Given the description of an element on the screen output the (x, y) to click on. 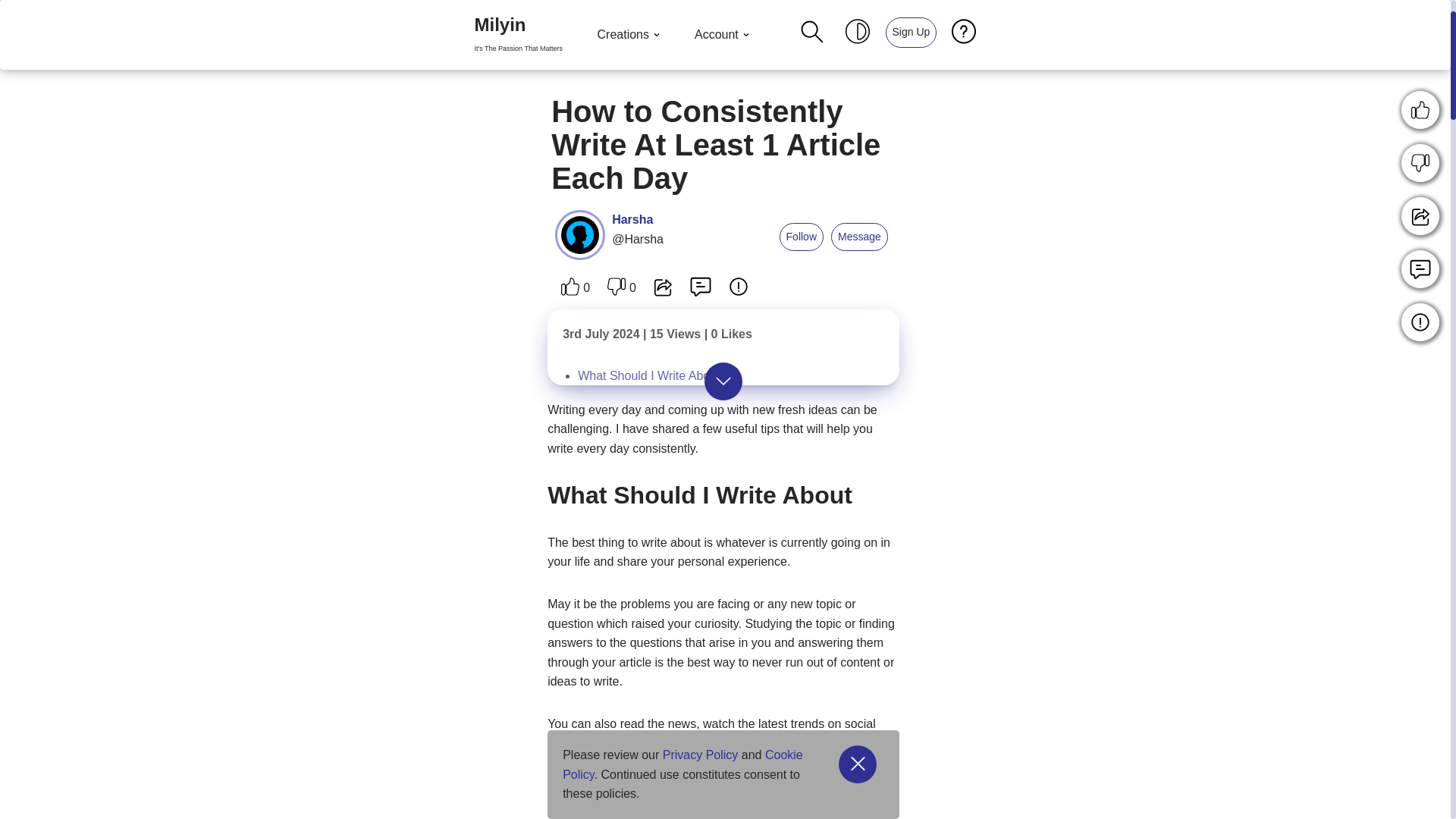
Message (518, 34)
Sign Up (859, 236)
Follow (910, 31)
Skip to content (801, 236)
Creations (11, 31)
Account (629, 35)
What Should I Write About (724, 35)
Milyin (648, 375)
Harsha (518, 34)
Sign Up (631, 219)
